Given the description of an element on the screen output the (x, y) to click on. 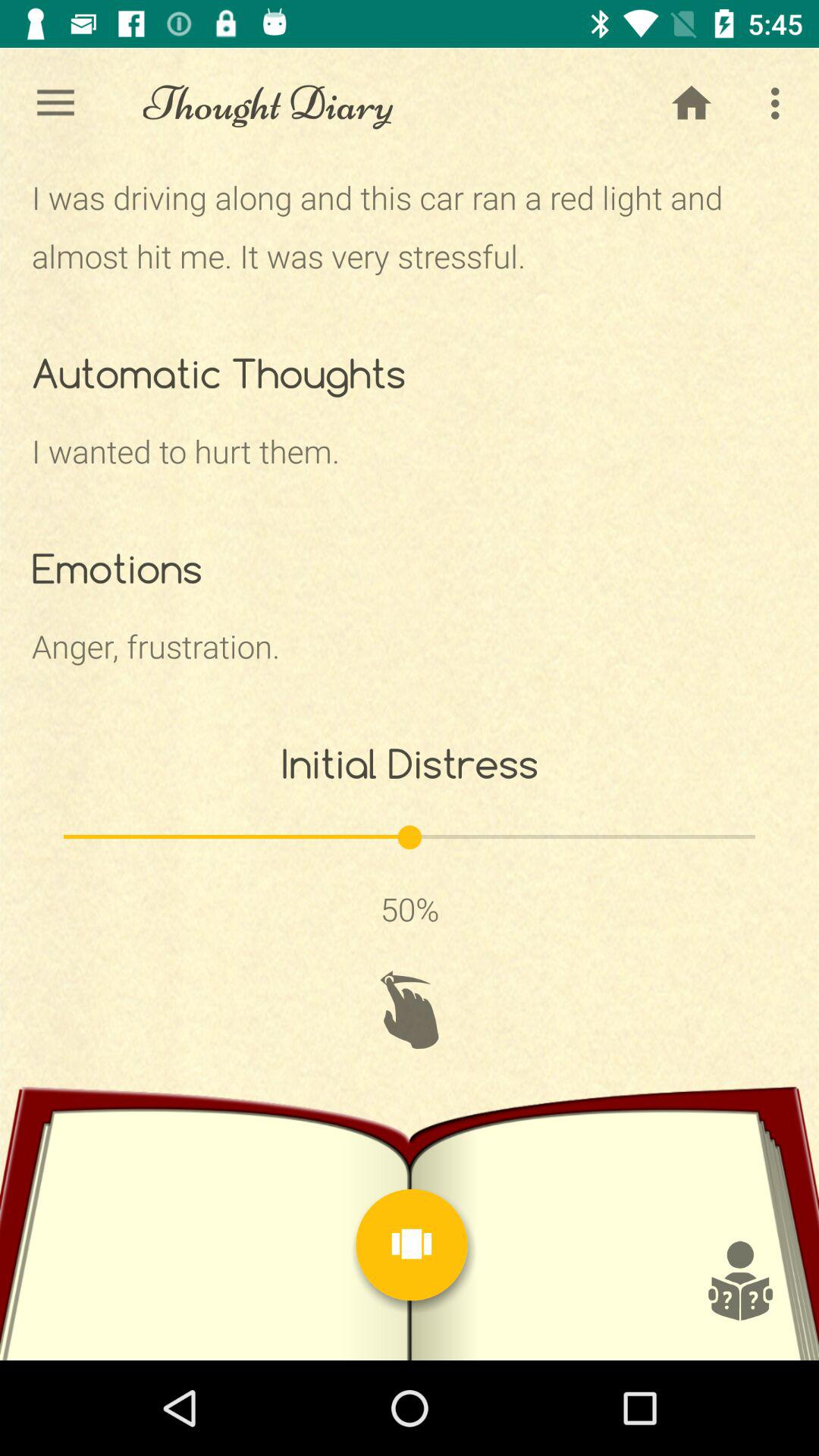
reading option (739, 1280)
